Given the description of an element on the screen output the (x, y) to click on. 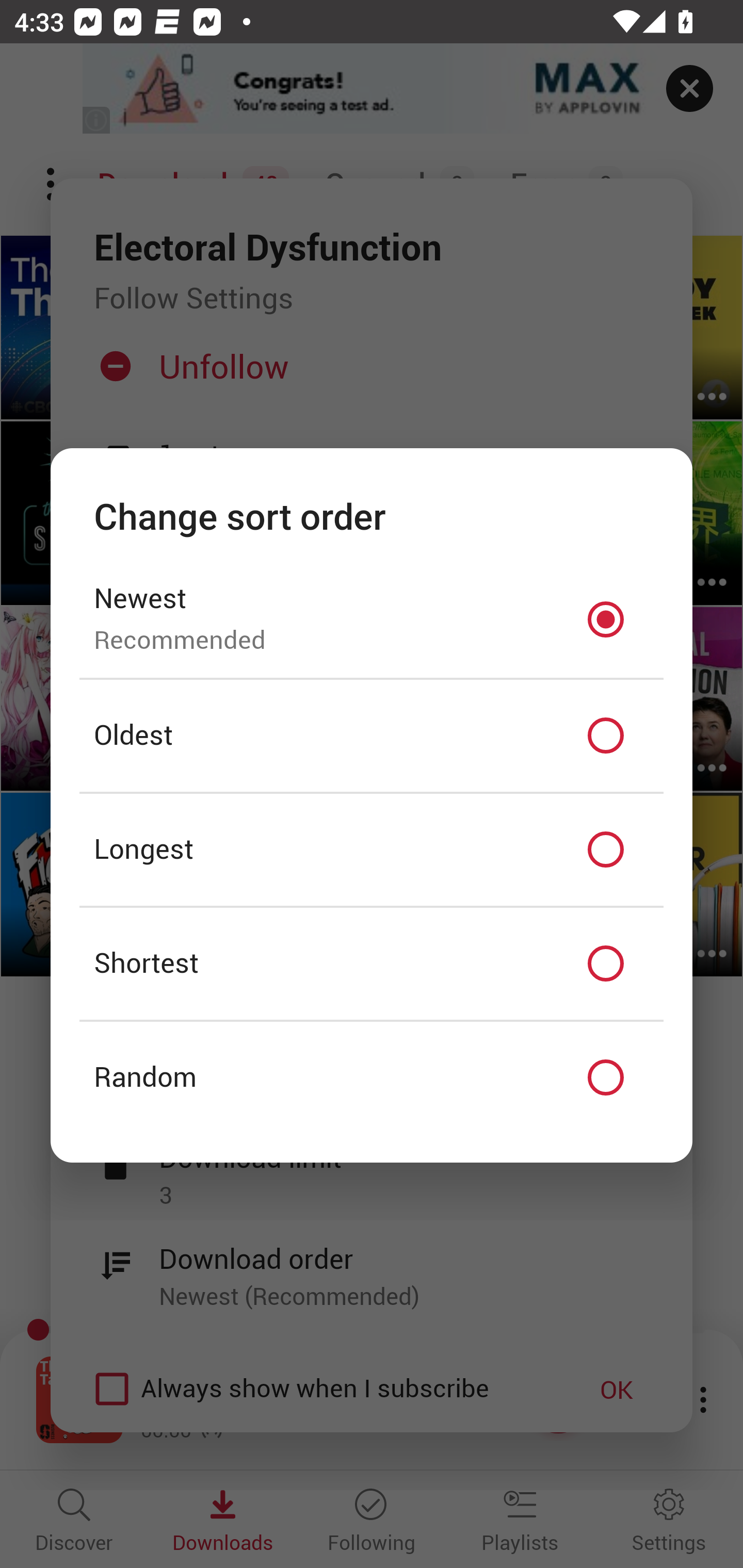
Newest Recommended (371, 619)
Oldest (371, 735)
Longest (371, 849)
Shortest (371, 963)
Random (371, 1077)
